Given the description of an element on the screen output the (x, y) to click on. 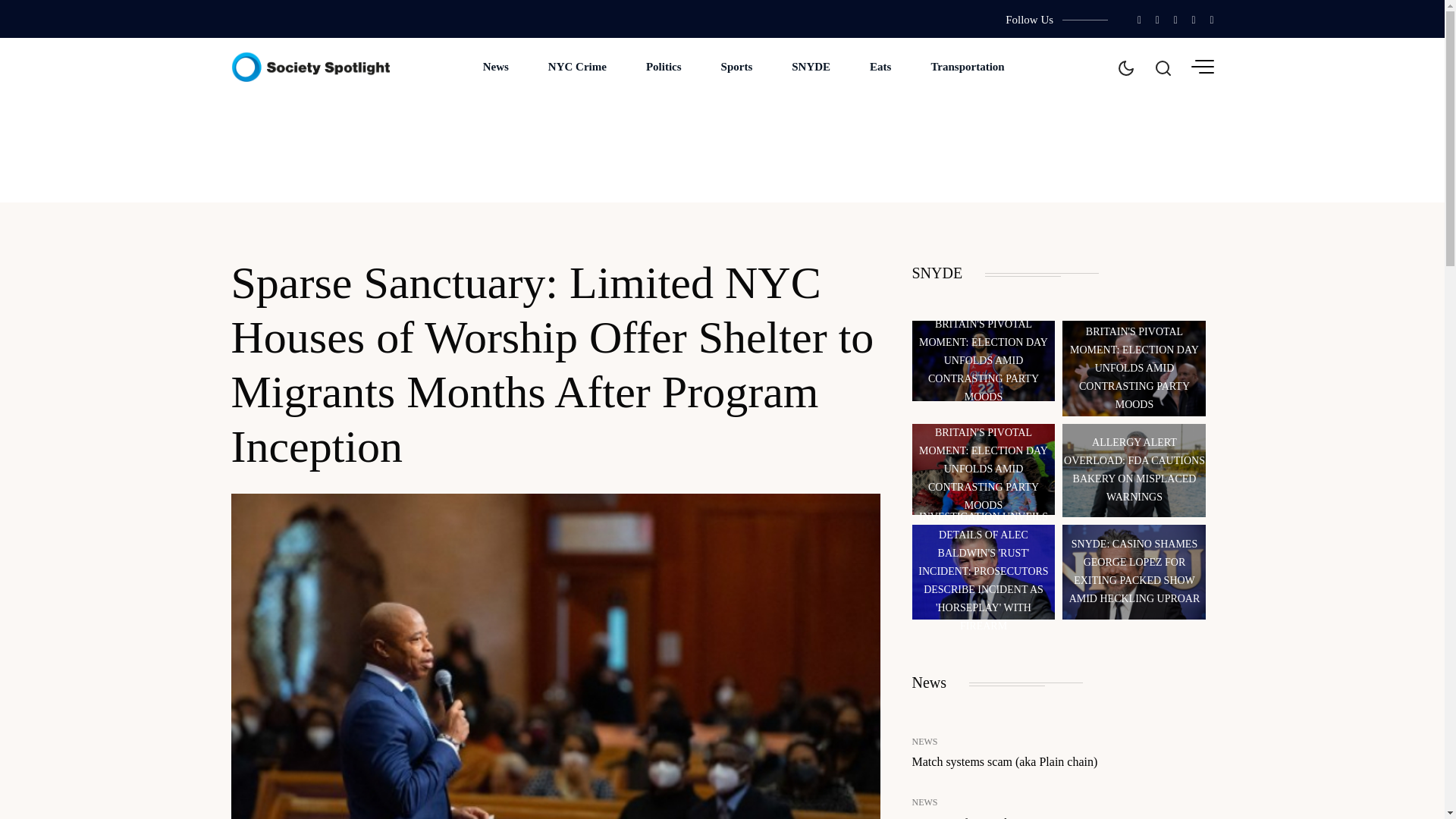
NEWS (924, 741)
Transportation (967, 67)
Sports (737, 67)
NYC Crime (577, 67)
NEWS (924, 801)
Politics (663, 67)
SNYDE (810, 67)
Eats (880, 67)
News (495, 67)
